Given the description of an element on the screen output the (x, y) to click on. 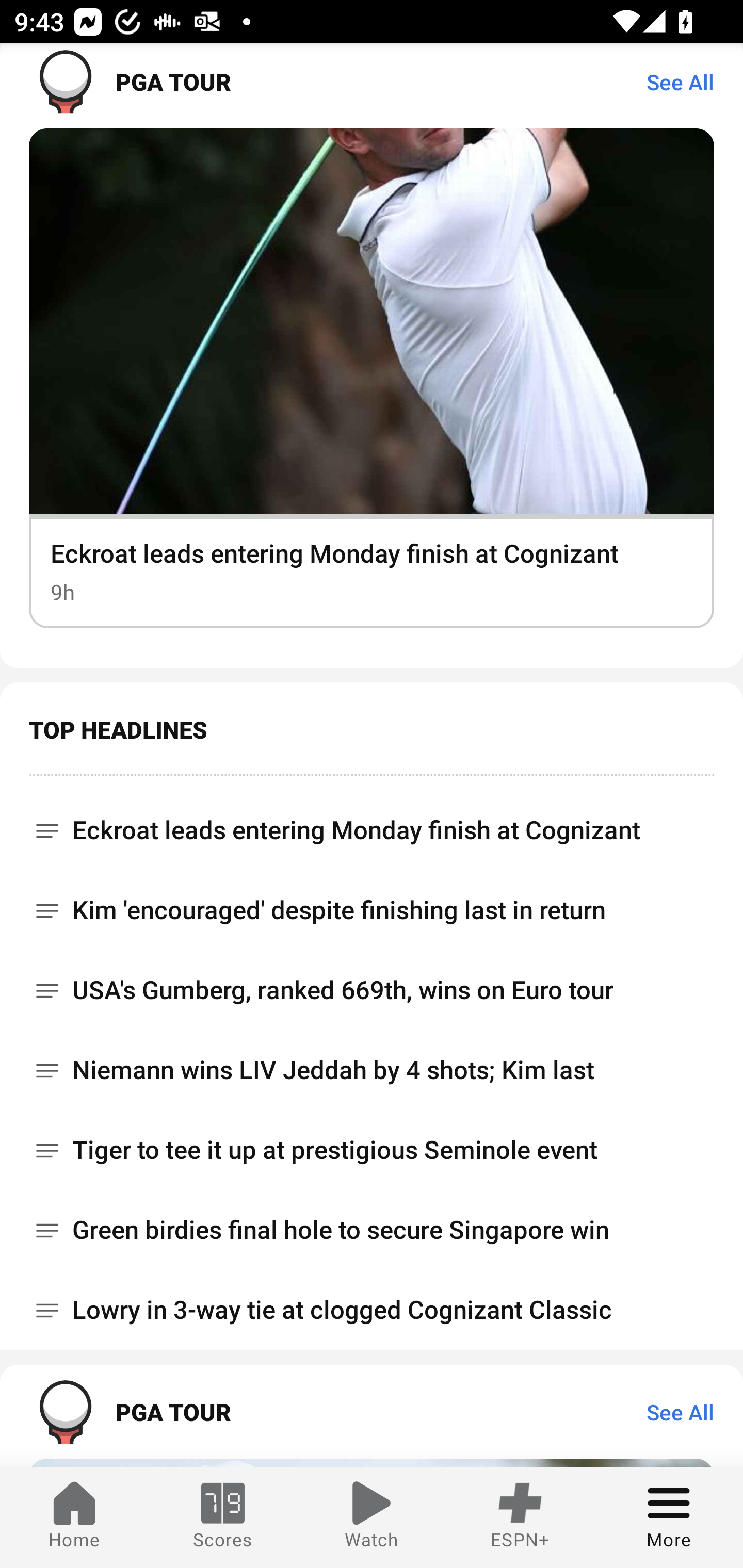
PGA TOUR See All (371, 85)
 USA's Gumberg, ranked 669th, wins on Euro tour (371, 990)
 Niemann wins LIV Jeddah by 4 shots; Kim last (371, 1070)
 Tiger to tee it up at prestigious Seminole event (371, 1150)
 Green birdies final hole to secure Singapore win (371, 1230)
 Lowry in 3-way tie at clogged Cognizant Classic (371, 1310)
PGA TOUR See All (371, 1411)
Home (74, 1517)
Scores (222, 1517)
Watch (371, 1517)
ESPN+ (519, 1517)
